Given the description of an element on the screen output the (x, y) to click on. 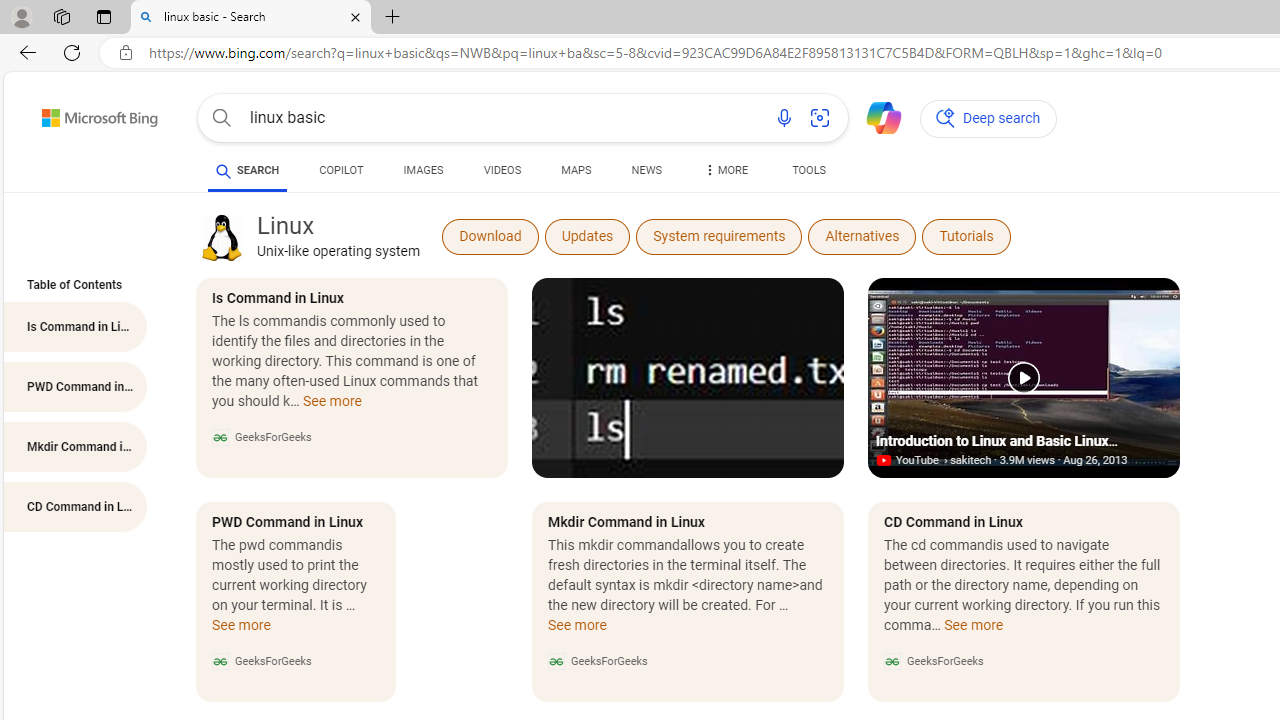
VIDEOS (501, 173)
IMAGES (423, 173)
Search button (221, 117)
See more CD Command in Linux (973, 630)
Video source site (885, 460)
Linux Unix-like operating system (338, 236)
System requirements (719, 236)
Search using voice (783, 117)
